Given the description of an element on the screen output the (x, y) to click on. 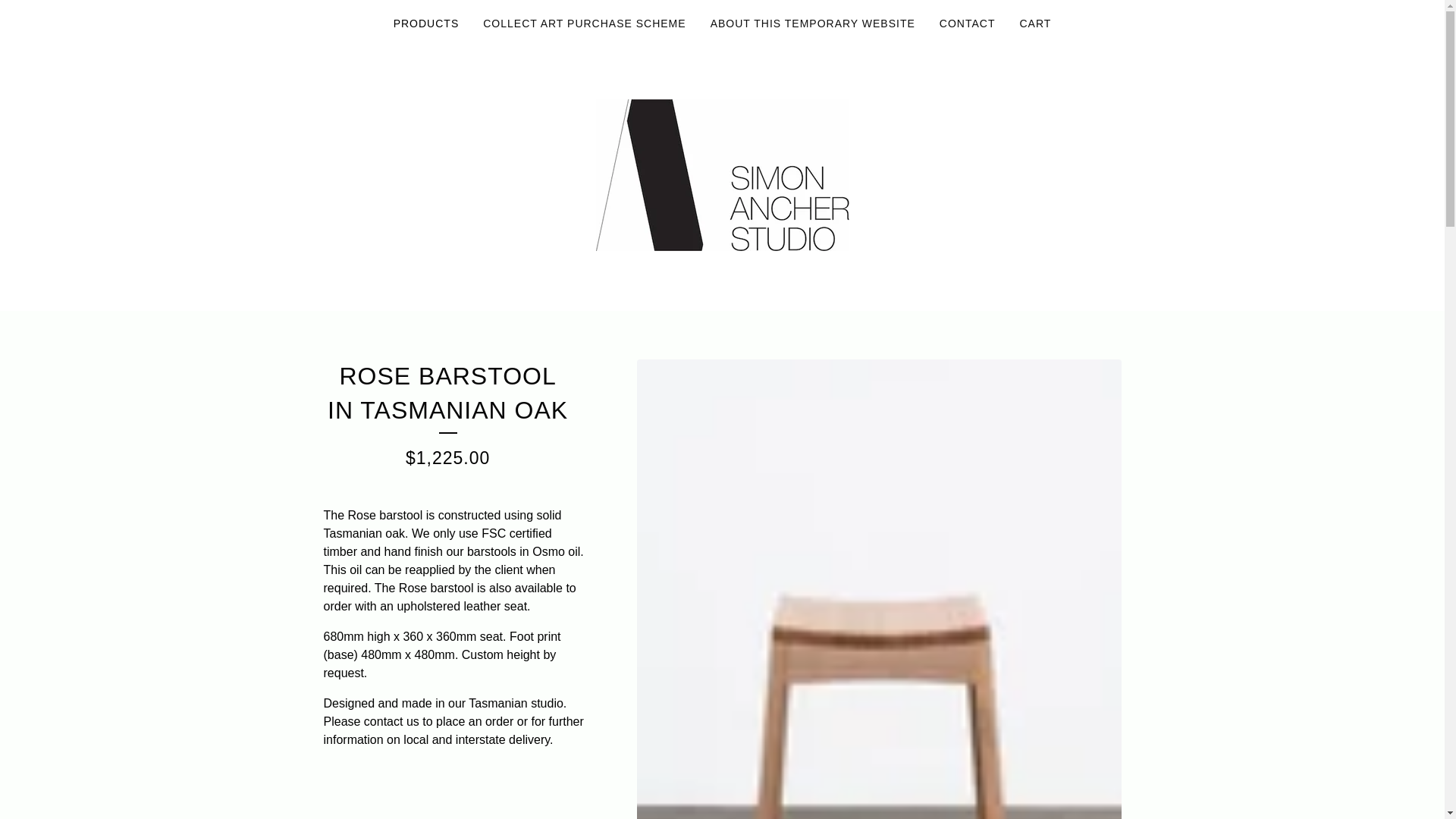
PRODUCTS (426, 23)
View ABOUT THIS TEMPORARY WEBSITE (812, 23)
Home (721, 174)
COLLECT ART PURCHASE SCHEME (584, 23)
CONTACT (967, 23)
ABOUT THIS TEMPORARY WEBSITE (812, 23)
ADD TO CART (453, 795)
CART (1035, 23)
View COLLECT ART PURCHASE SCHEME (584, 23)
